Given the description of an element on the screen output the (x, y) to click on. 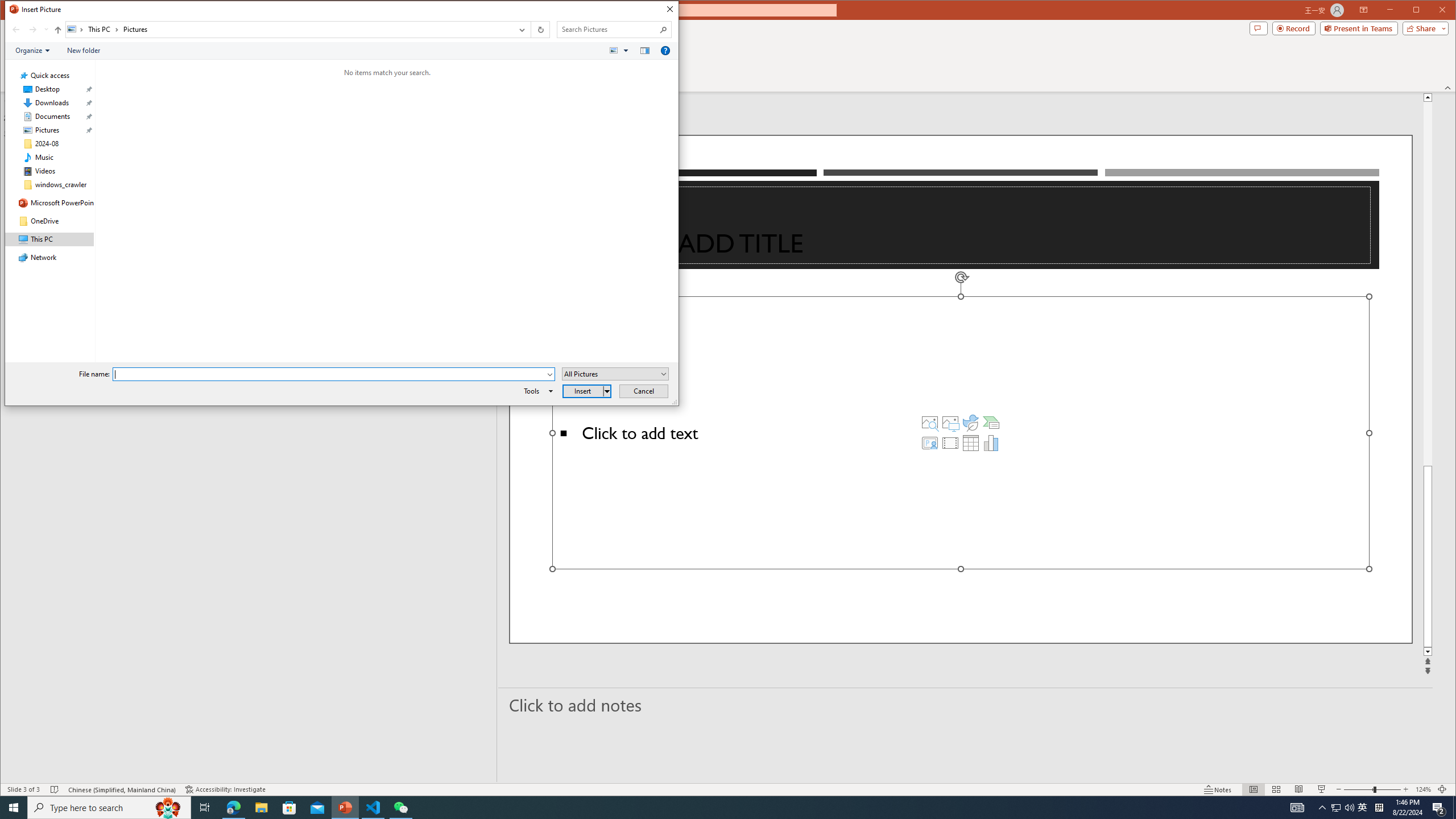
Action Center, 2 new notifications (1439, 807)
